Given the description of an element on the screen output the (x, y) to click on. 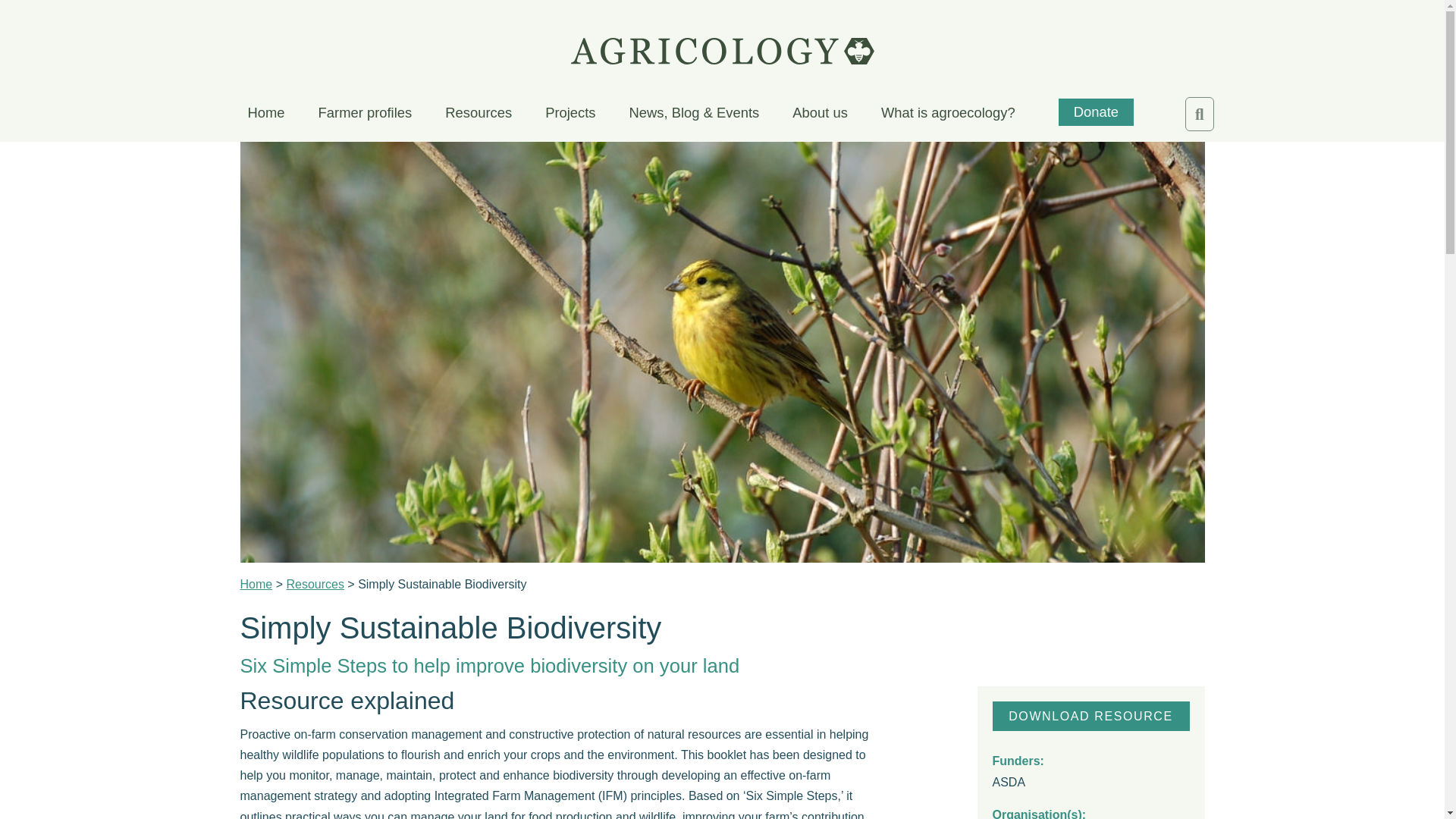
Resources (478, 114)
What is agroecology? (947, 114)
Home (256, 584)
DOWNLOAD RESOURCE (1090, 716)
Farmer profiles (365, 114)
Resources (314, 584)
Projects (569, 114)
agricology logo (721, 50)
Donate (1096, 112)
About us (819, 114)
